Given the description of an element on the screen output the (x, y) to click on. 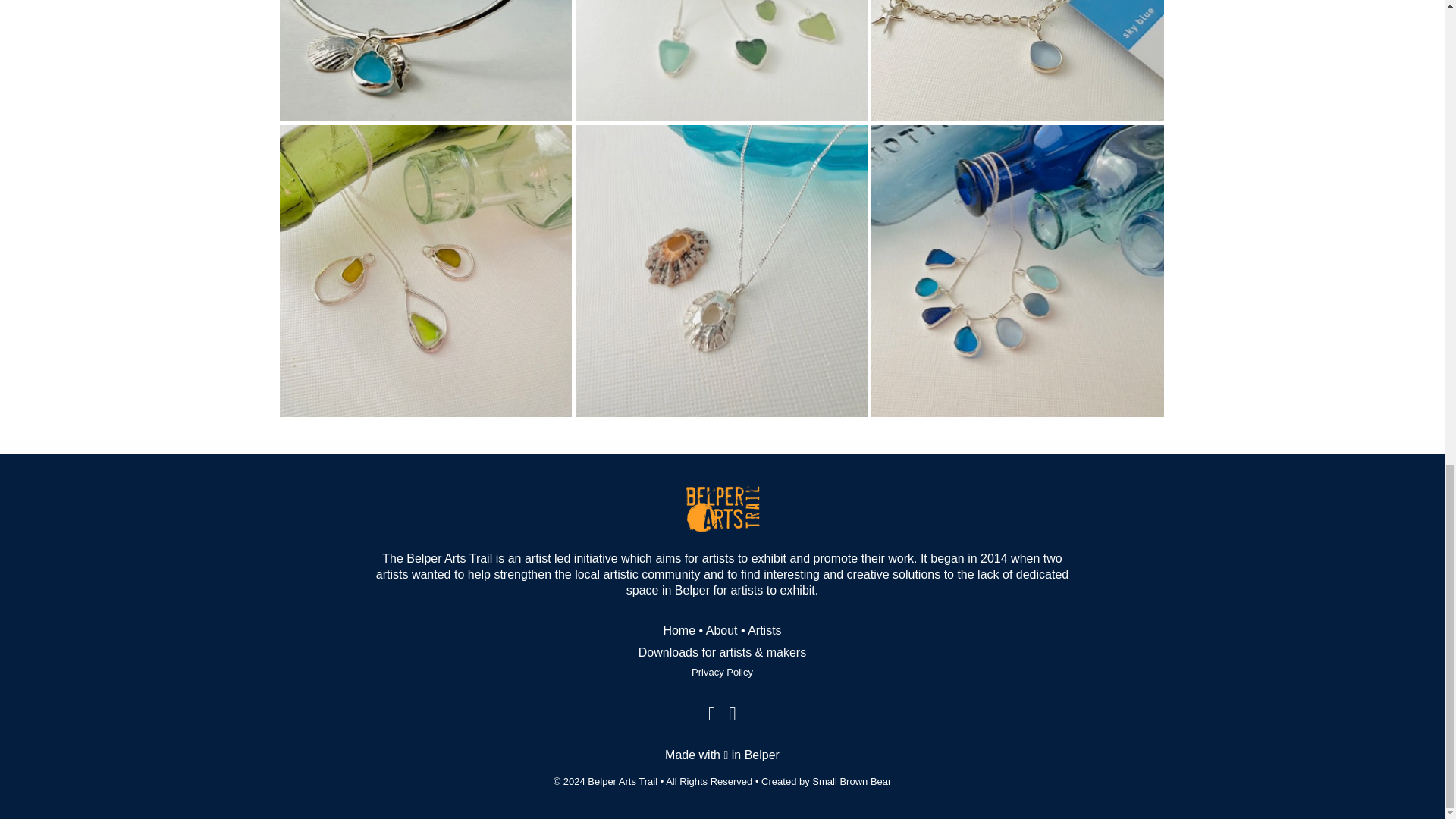
About (722, 630)
Privacy Policy (721, 672)
Home (678, 630)
Small Brown Bear (851, 781)
Artists (764, 630)
